Given the description of an element on the screen output the (x, y) to click on. 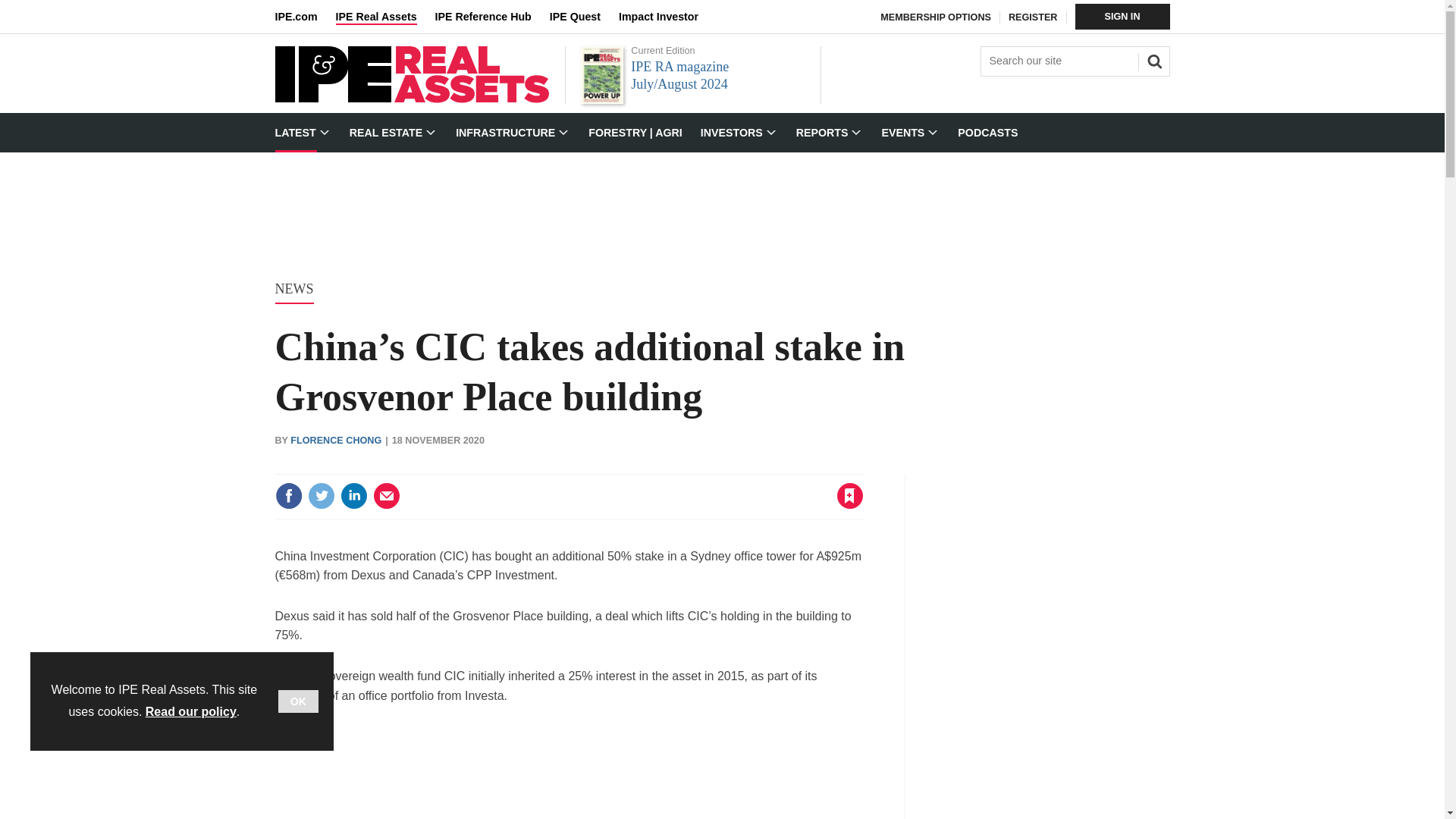
Share this on Linked in (352, 495)
IPE.com (304, 16)
3rd party ad content (568, 772)
IPE Quest (583, 16)
REGISTER (1033, 17)
MEMBERSHIP OPTIONS (935, 17)
Email this article (386, 495)
IPE Quest (583, 16)
OK (298, 701)
Share this on Facebook (288, 495)
